Given the description of an element on the screen output the (x, y) to click on. 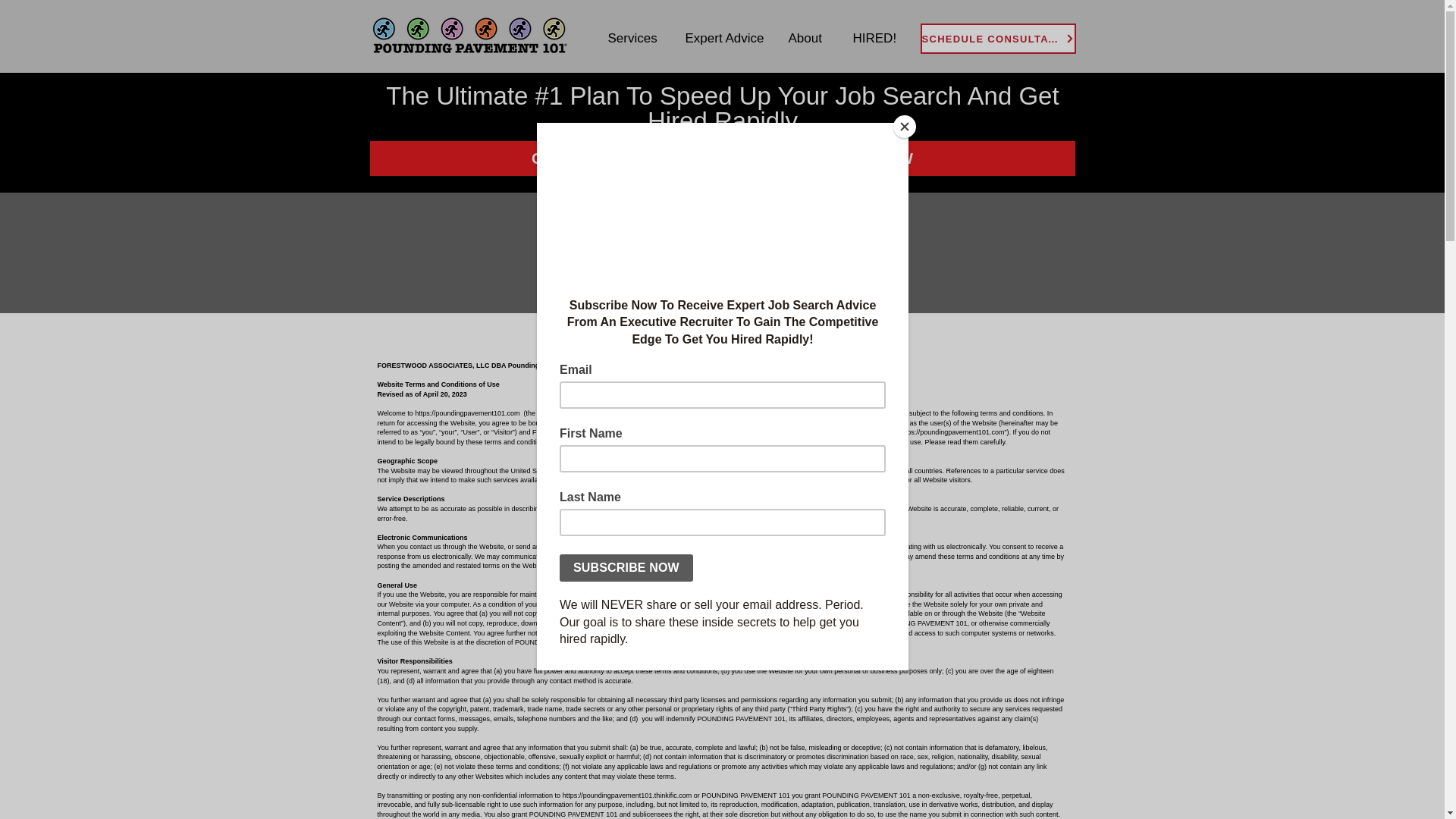
HIRED! (876, 38)
SCHEDULE CONSULTATION (997, 38)
CLICK TO VIEW FREE JOB SEARCH TRAINING NOW (722, 158)
